Given the description of an element on the screen output the (x, y) to click on. 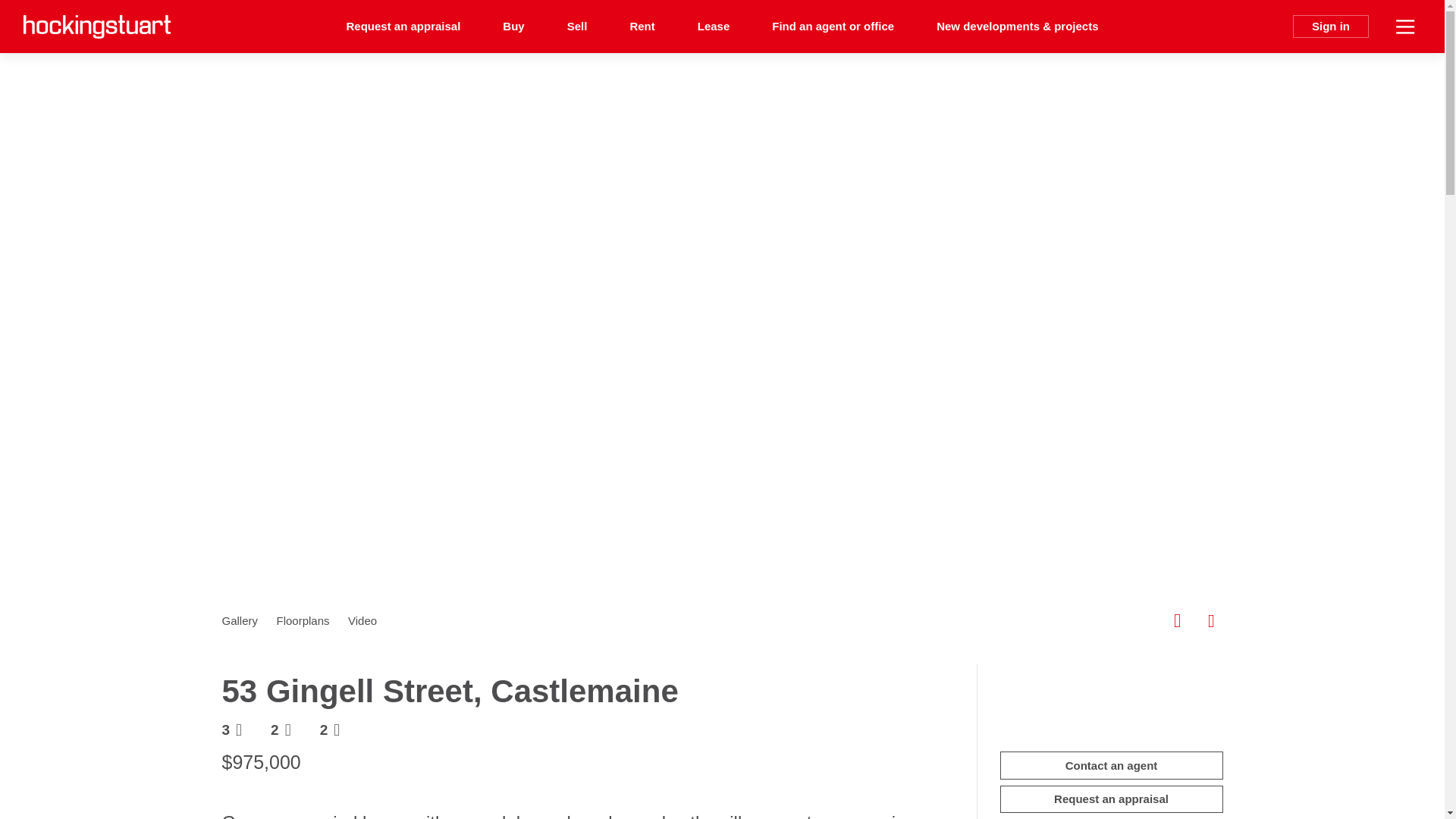
Lease (714, 26)
Buy (513, 26)
Sell (577, 26)
Find an agent or office (832, 26)
Rent (641, 26)
Request an appraisal (402, 26)
